Given the description of an element on the screen output the (x, y) to click on. 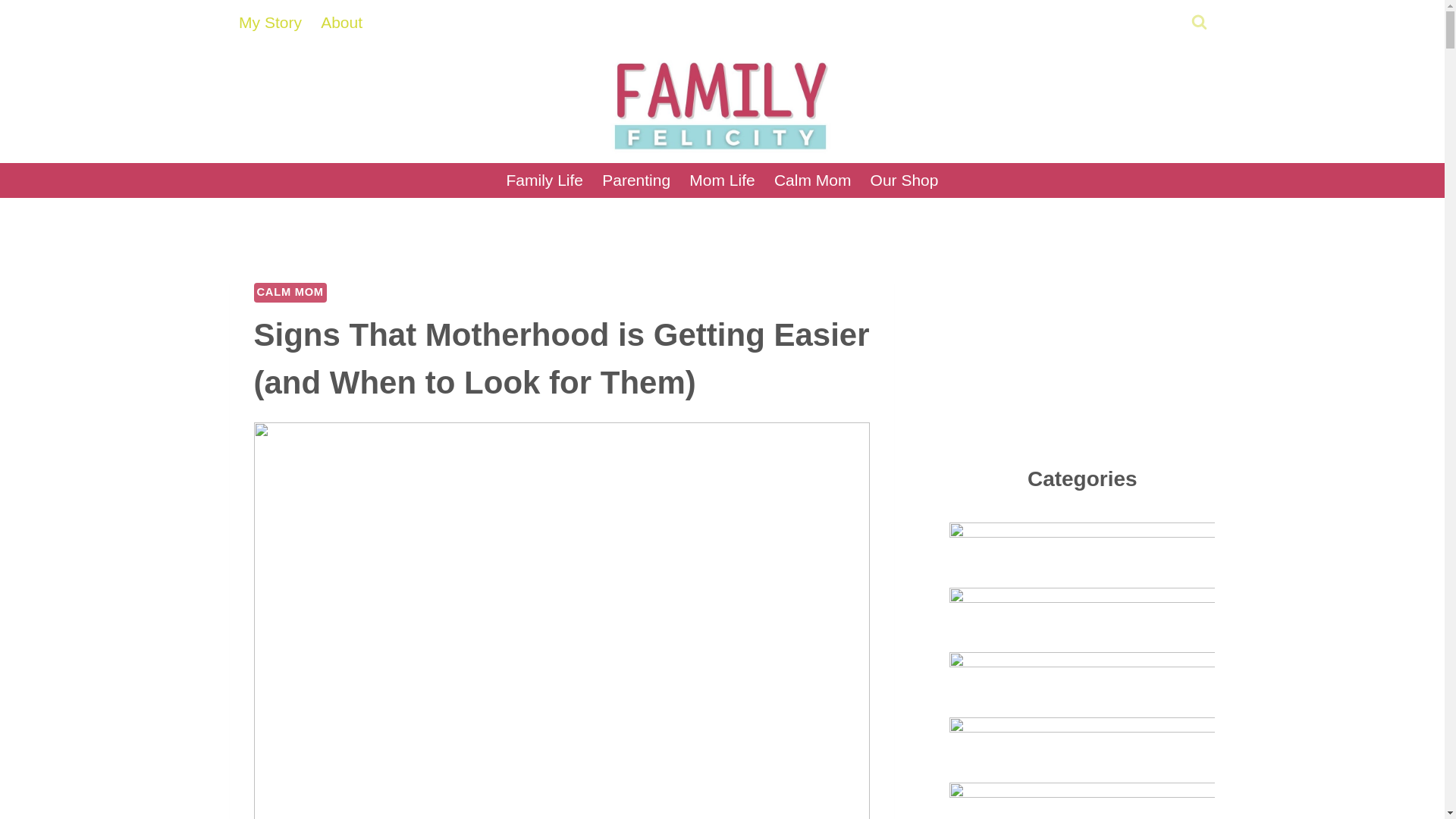
About (341, 22)
Calm Mom (812, 180)
My Story (269, 22)
Parenting (635, 180)
Mom Life (722, 180)
CALM MOM (289, 292)
Family Life (544, 180)
Our Shop (903, 180)
